Given the description of an element on the screen output the (x, y) to click on. 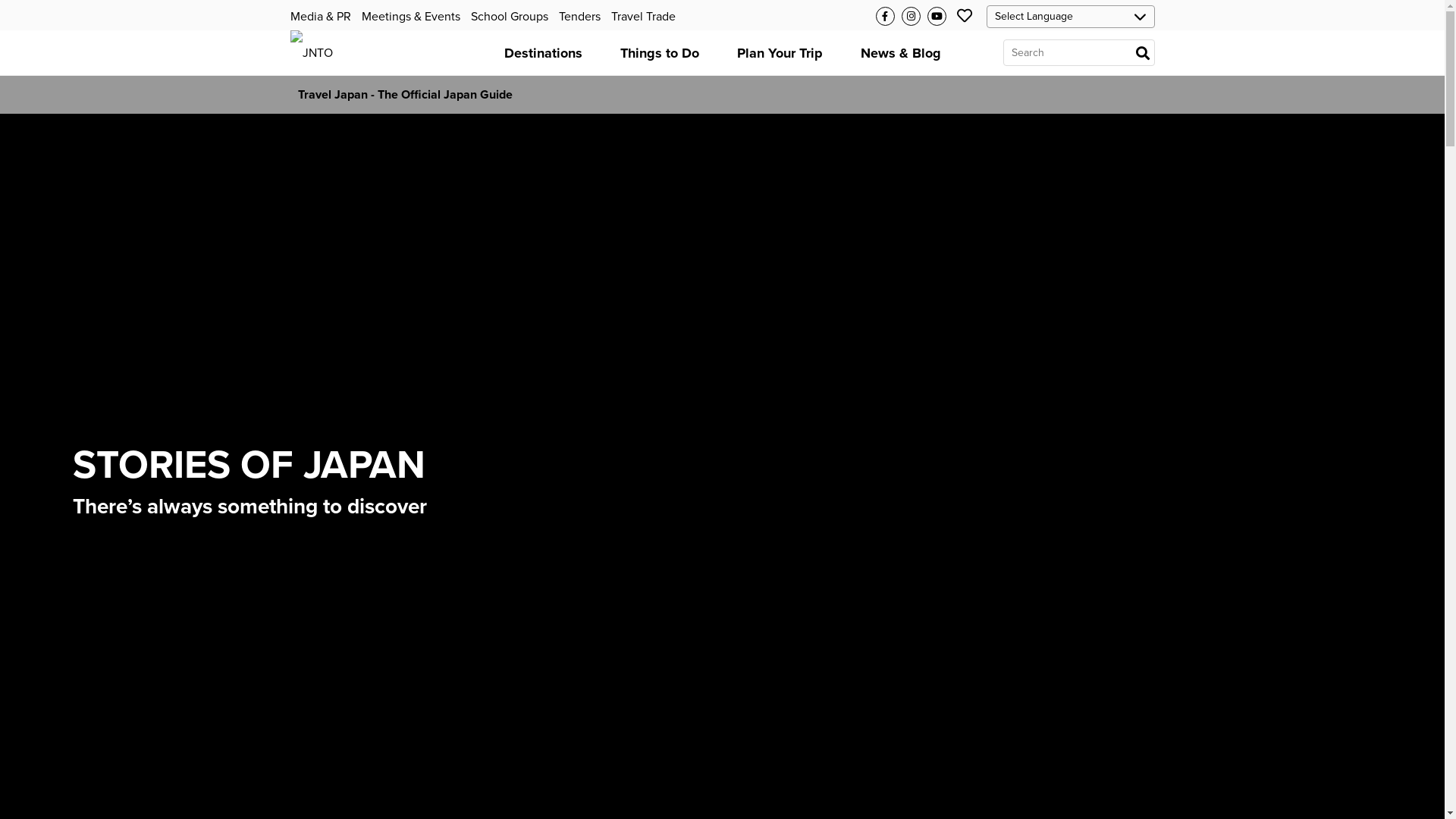
Meetings & Events Element type: text (409, 16)
Tenders Element type: text (578, 16)
Plan Your Trip Element type: text (778, 52)
School Groups Element type: text (508, 16)
Travel Trade Element type: text (643, 16)
News & Blog Element type: text (900, 52)
Things to Do Element type: text (658, 52)
Destinations Element type: text (543, 52)
Media & PR Element type: text (319, 16)
